Given the description of an element on the screen output the (x, y) to click on. 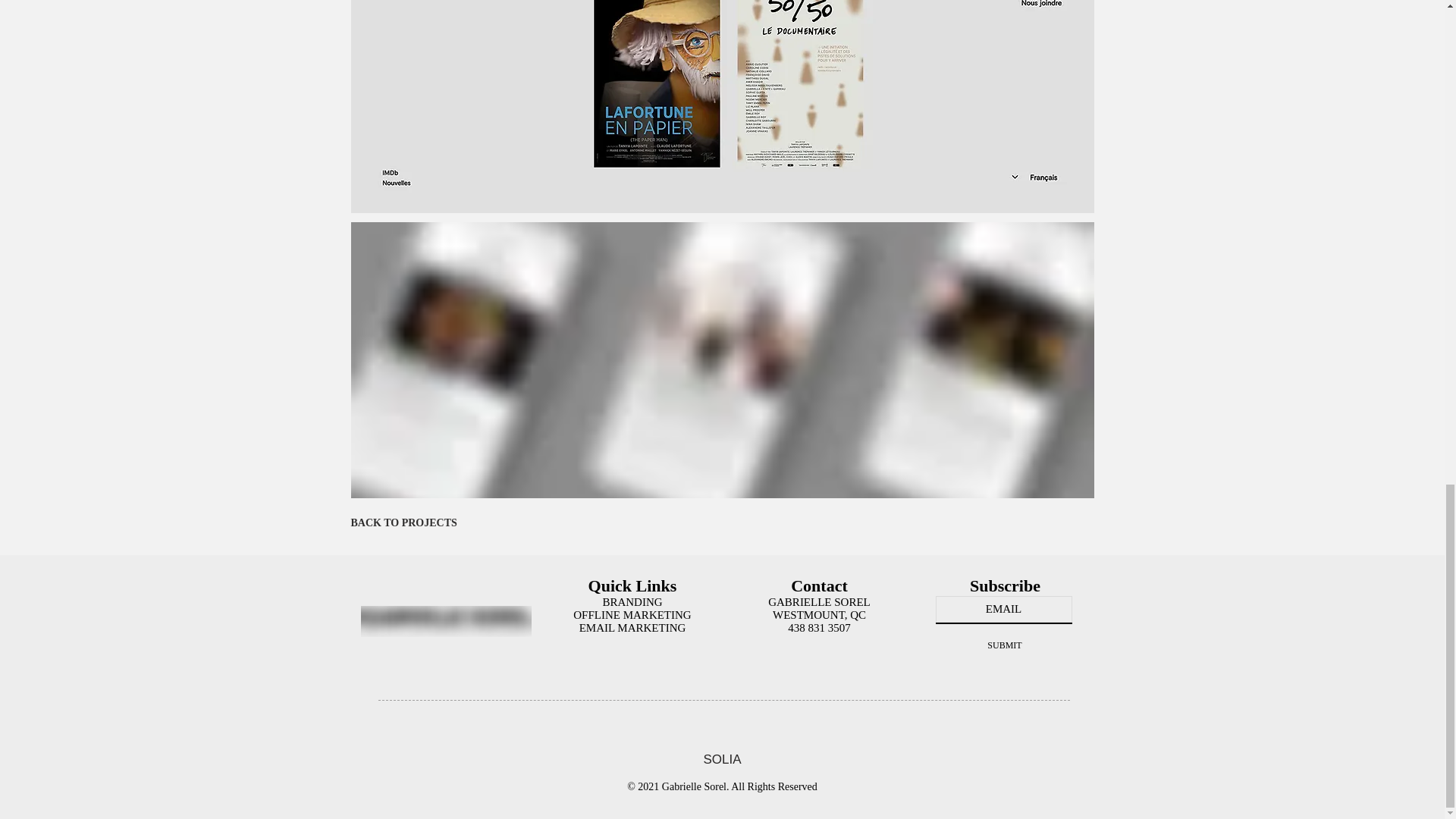
SOLIA (722, 759)
Quick Links (632, 585)
SUBMIT (1005, 645)
BACK TO PROJECTS (403, 522)
Contact (818, 585)
OFFLINE MARKETING (631, 614)
BRANDING (632, 602)
EMAIL MARKETING (632, 627)
